Given the description of an element on the screen output the (x, y) to click on. 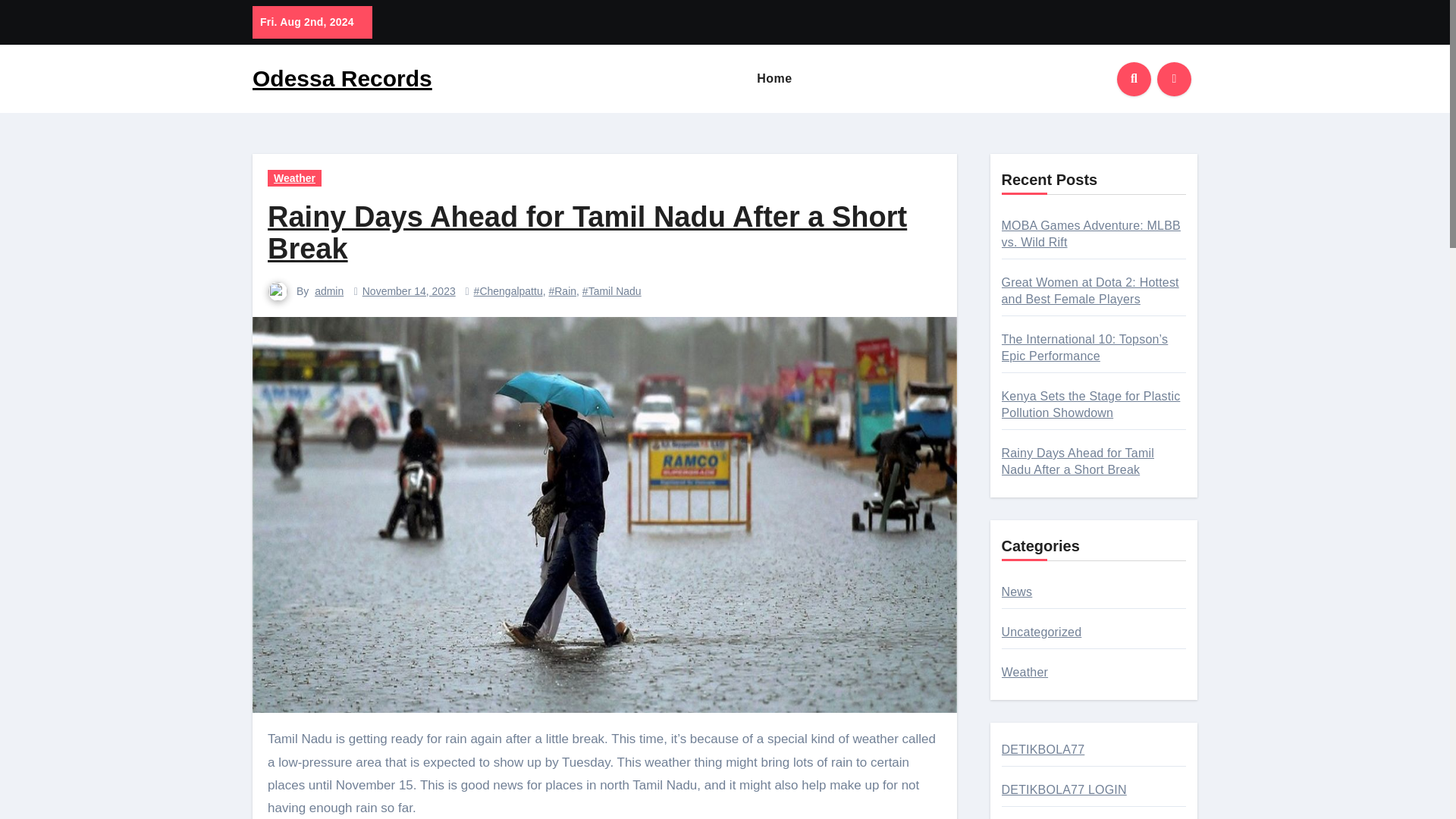
admin (328, 291)
Rainy Days Ahead for Tamil Nadu After a Short Break (587, 232)
Home (774, 79)
November 14, 2023 (408, 291)
Odessa Records (341, 78)
Weather (294, 177)
Home (774, 79)
